Given the description of an element on the screen output the (x, y) to click on. 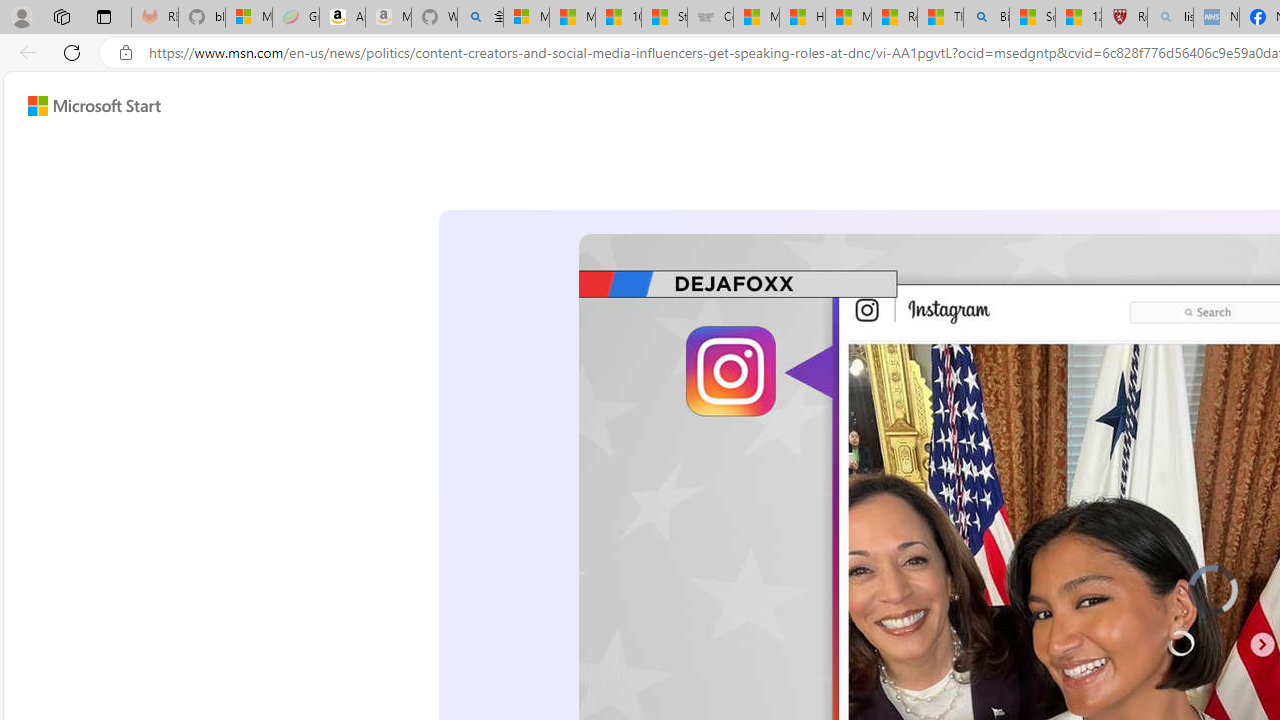
How I Got Rid of Microsoft Edge's Unnecessary Features (802, 17)
